Given the description of an element on the screen output the (x, y) to click on. 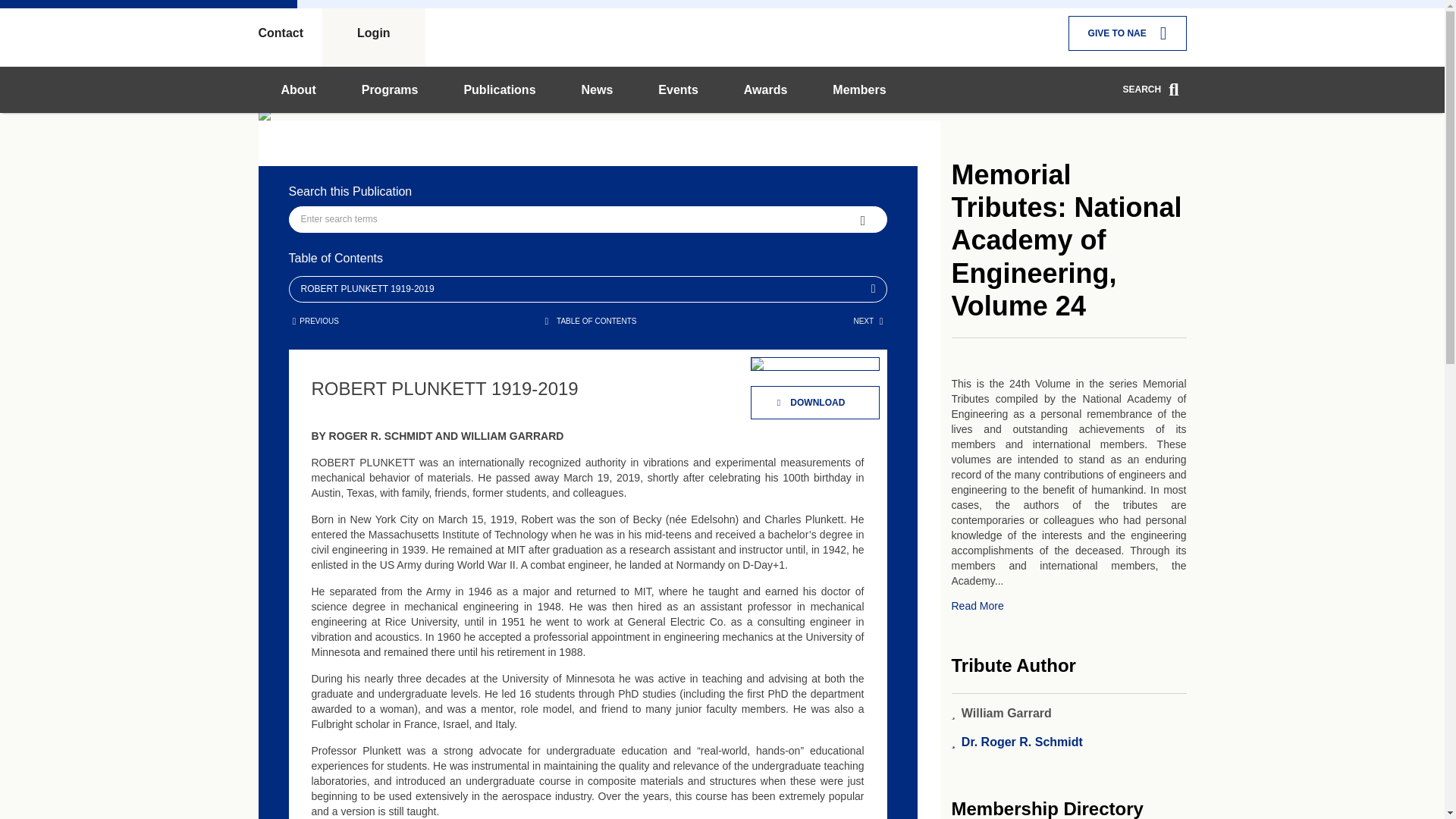
HOWARD RAIFFA 1924-2016 (867, 320)
Login (373, 33)
Contact (289, 33)
GIVE TO NAE (1127, 32)
 ROBERT PLUNKETT 1919-2019 (584, 86)
JUN-ICHI NISHIZAWA 1926-2018 (315, 320)
